Given the description of an element on the screen output the (x, y) to click on. 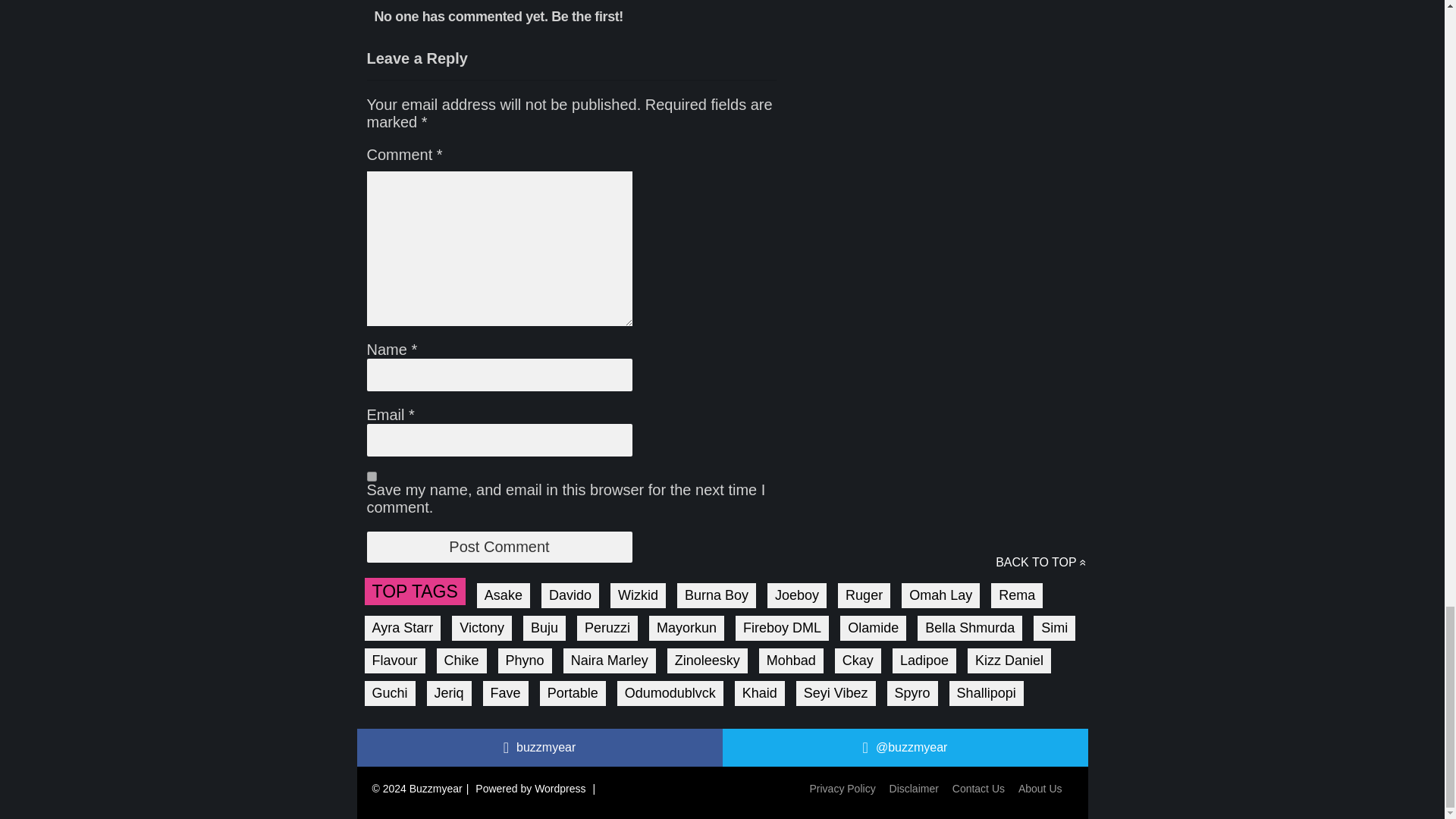
yes (371, 476)
Post Comment (498, 546)
